Given the description of an element on the screen output the (x, y) to click on. 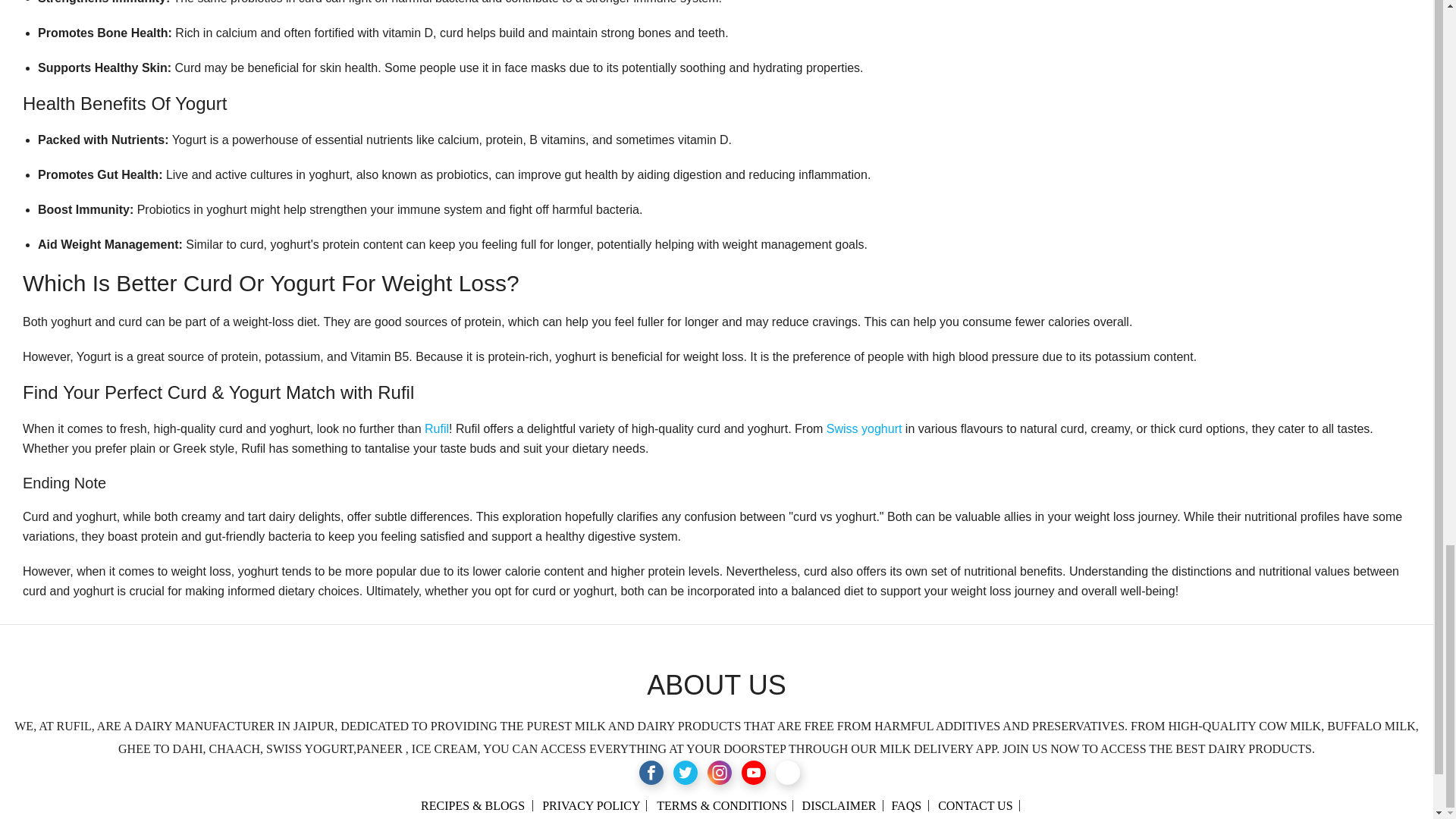
CONTACT US (974, 805)
FAQS (906, 805)
Rufil (436, 428)
Swiss yoghurt (864, 428)
PRIVACY POLICY (590, 805)
DISCLAIMER (839, 805)
